Given the description of an element on the screen output the (x, y) to click on. 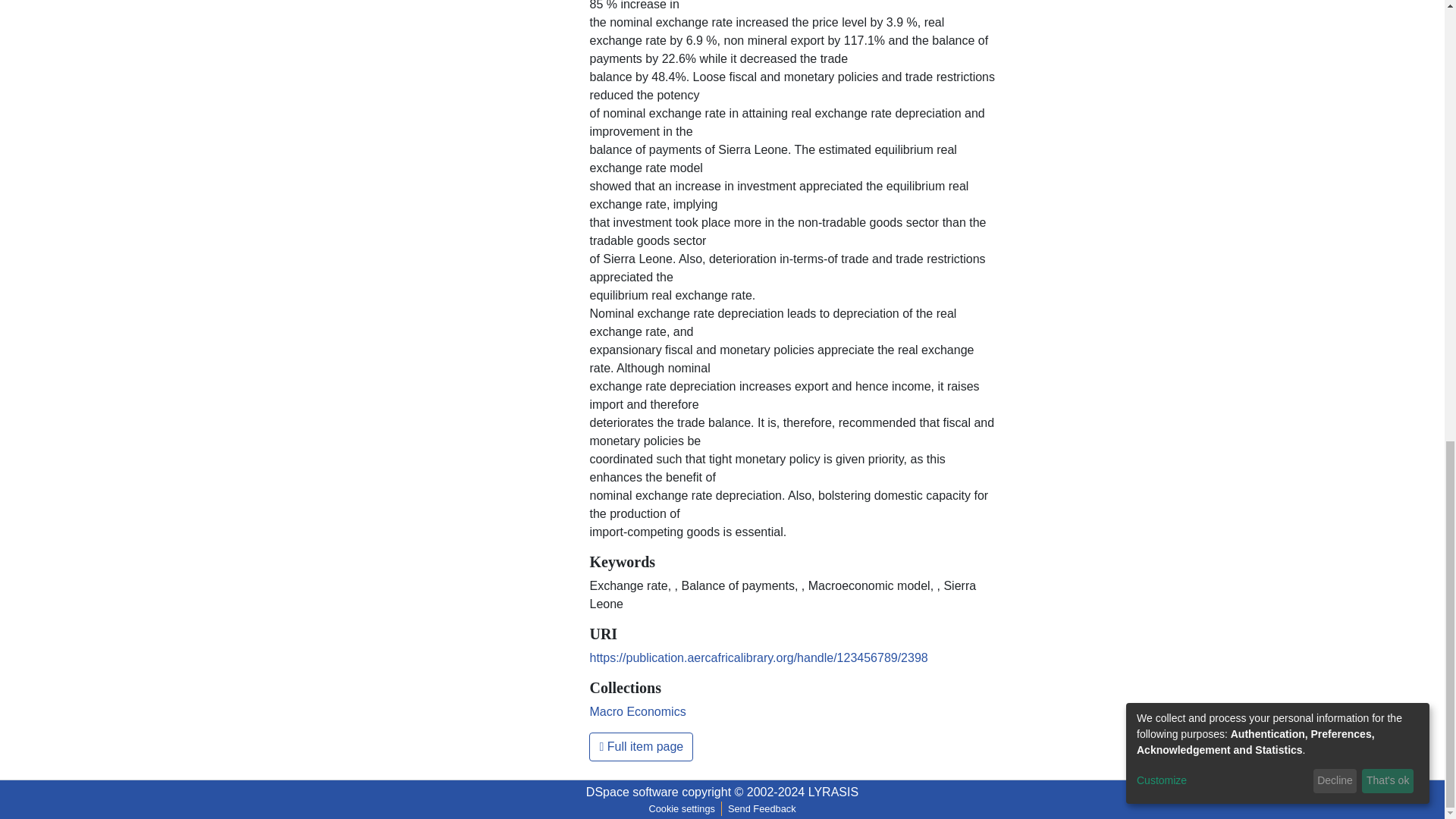
Cookie settings (681, 808)
Macro Economics (637, 711)
LYRASIS (833, 791)
Full item page (641, 746)
Send Feedback (762, 808)
DSpace software (632, 791)
